Given the description of an element on the screen output the (x, y) to click on. 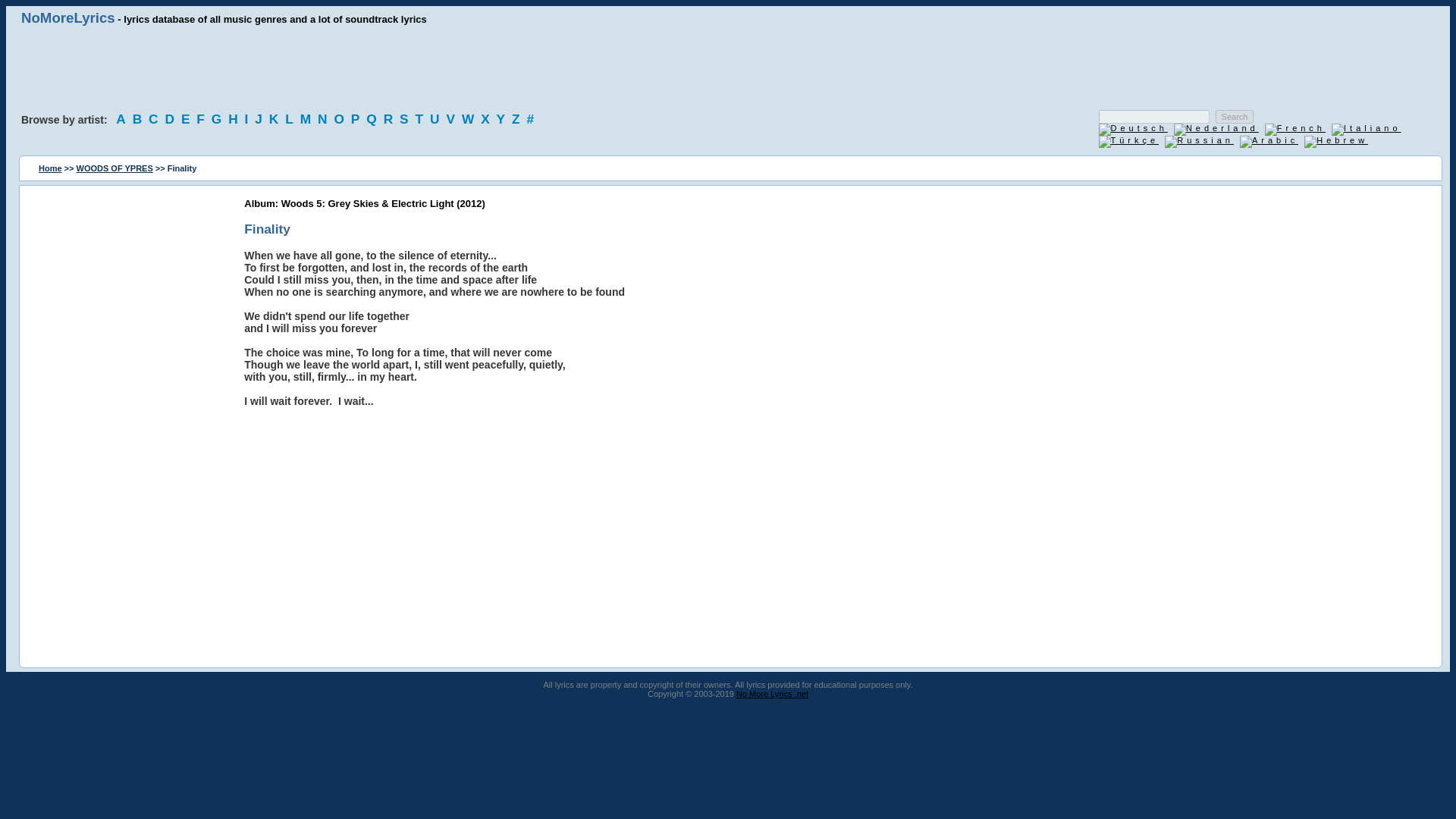
Song lyrics and soundtrack lyrics, starting with N (324, 118)
B (139, 118)
U (436, 118)
Song lyrics and soundtrack lyrics, starting with B (139, 118)
C (154, 118)
Song lyrics and soundtrack lyrics, starting with H (234, 118)
Song lyrics and soundtrack lyrics, starting with Q (373, 118)
Search (1234, 116)
Song lyrics and soundtrack lyrics, starting with G (218, 118)
Home (50, 167)
